Given the description of an element on the screen output the (x, y) to click on. 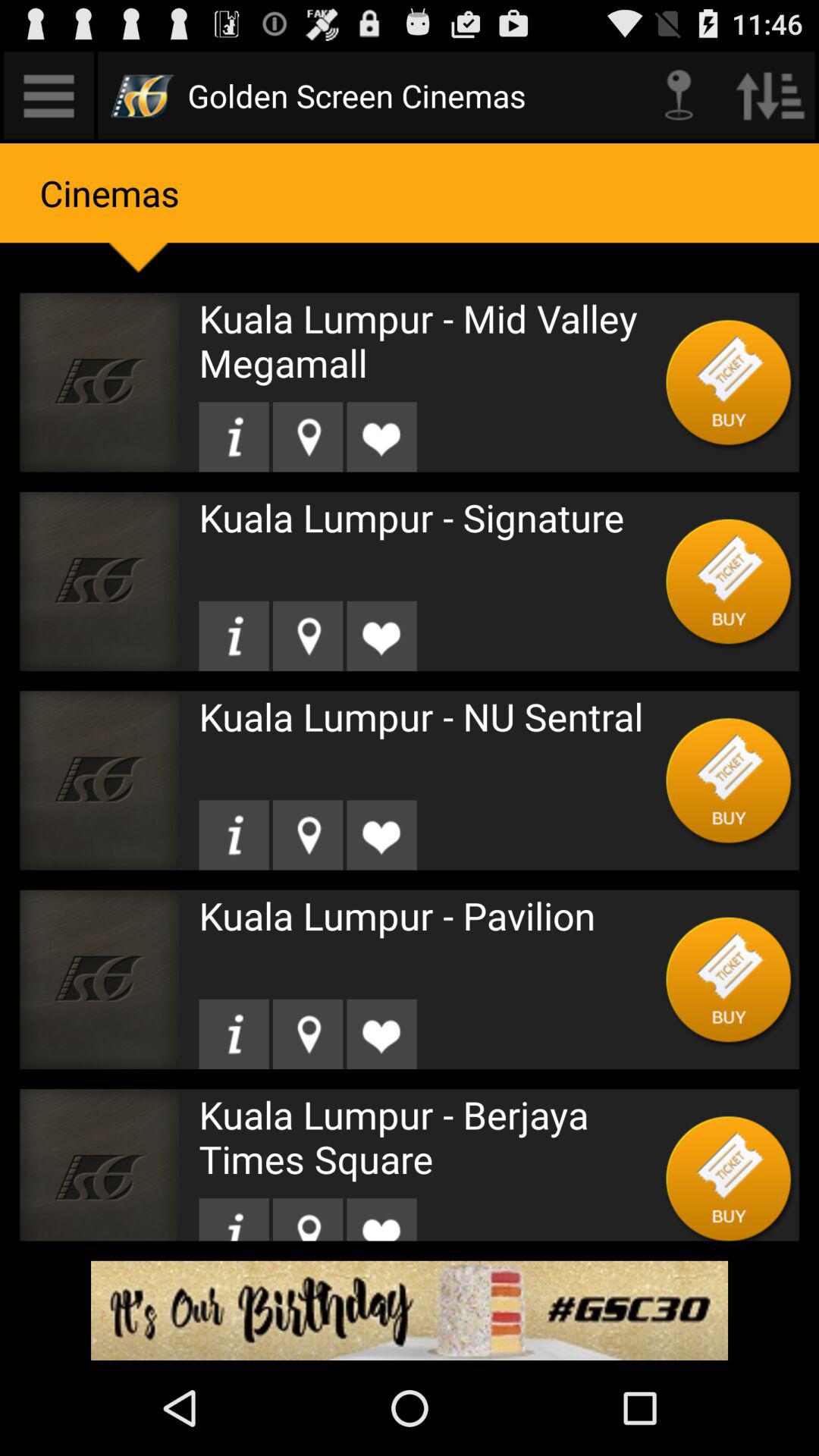
view more options (48, 95)
